Given the description of an element on the screen output the (x, y) to click on. 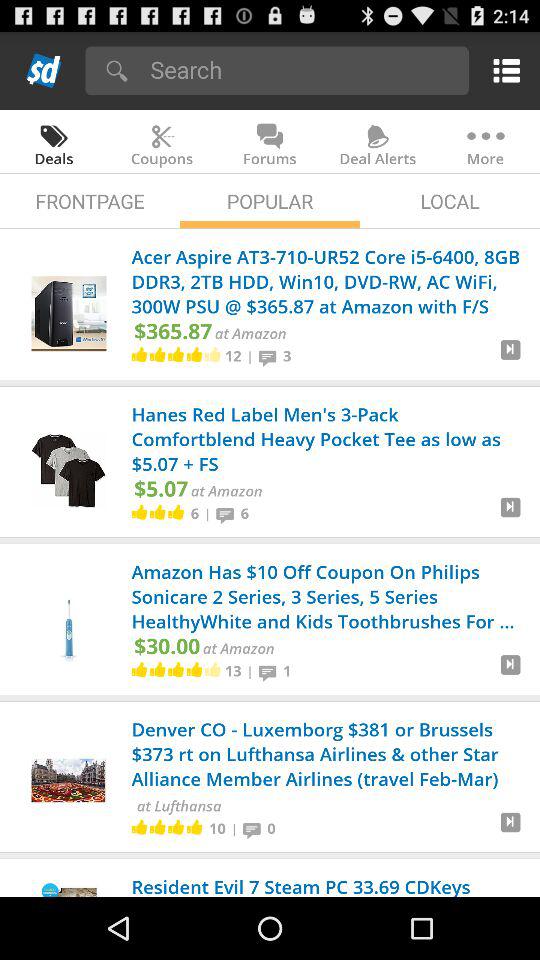
jump to hanes red label app (328, 440)
